Given the description of an element on the screen output the (x, y) to click on. 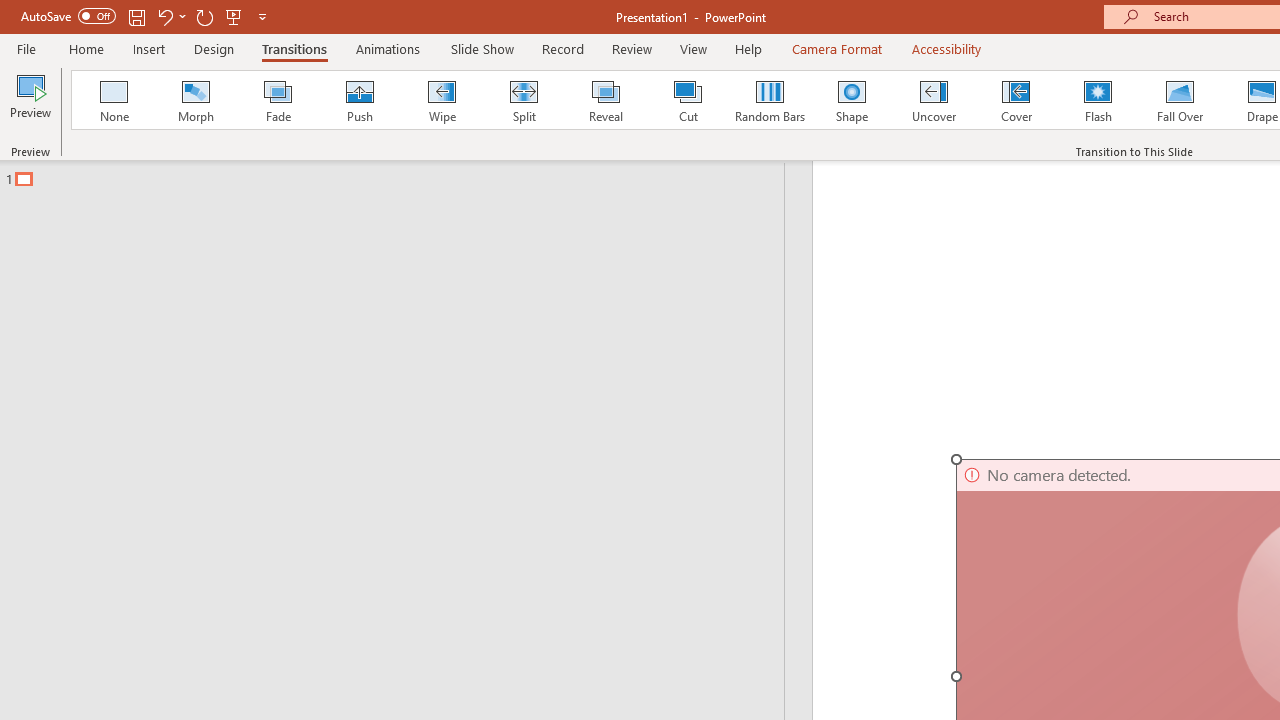
Shape (852, 100)
Split (523, 100)
Cover (1016, 100)
